Given the description of an element on the screen output the (x, y) to click on. 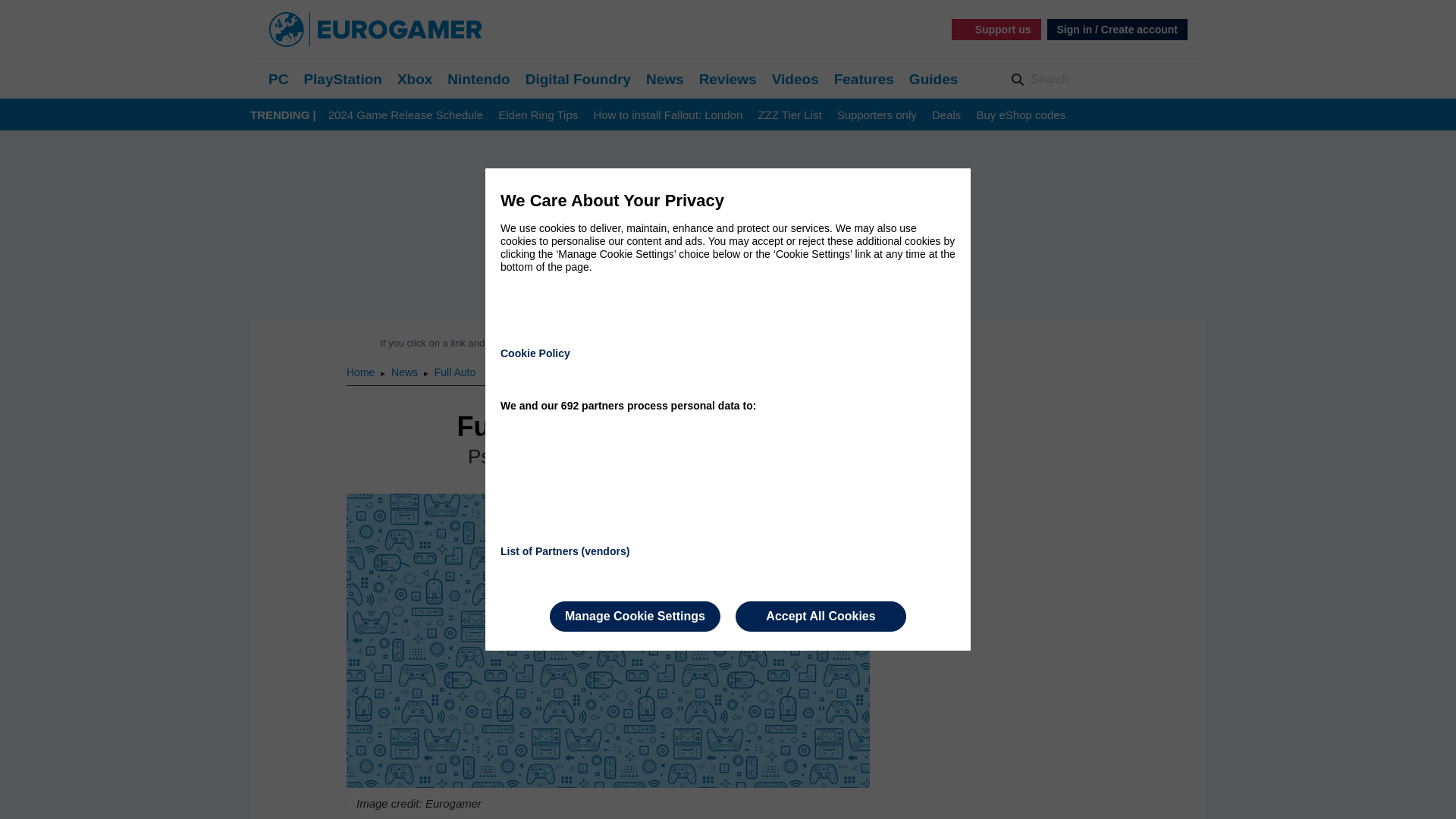
Buy eShop codes (1020, 114)
Nintendo (477, 78)
Reviews (727, 78)
PlayStation (341, 78)
News (665, 78)
ZZZ Tier List (789, 114)
Support us (996, 29)
Videos (794, 78)
How to install Fallout: London (667, 114)
Reviews (727, 78)
Supporters only (877, 114)
Nintendo (477, 78)
Features (863, 78)
Xbox (414, 78)
Deals (945, 114)
